Given the description of an element on the screen output the (x, y) to click on. 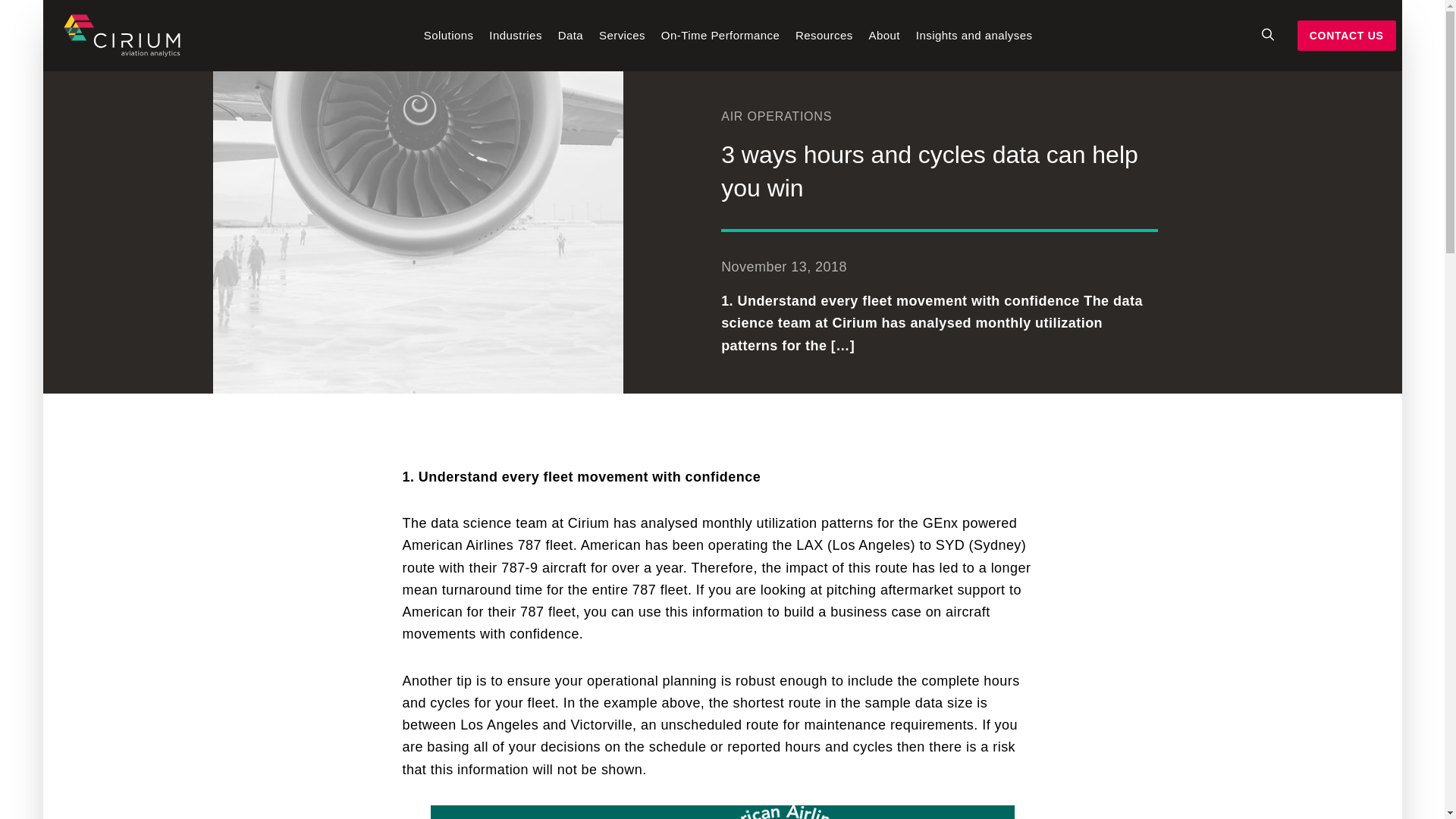
CONTACT US (1346, 35)
Cirium (120, 35)
Solutions (448, 50)
